Given the description of an element on the screen output the (x, y) to click on. 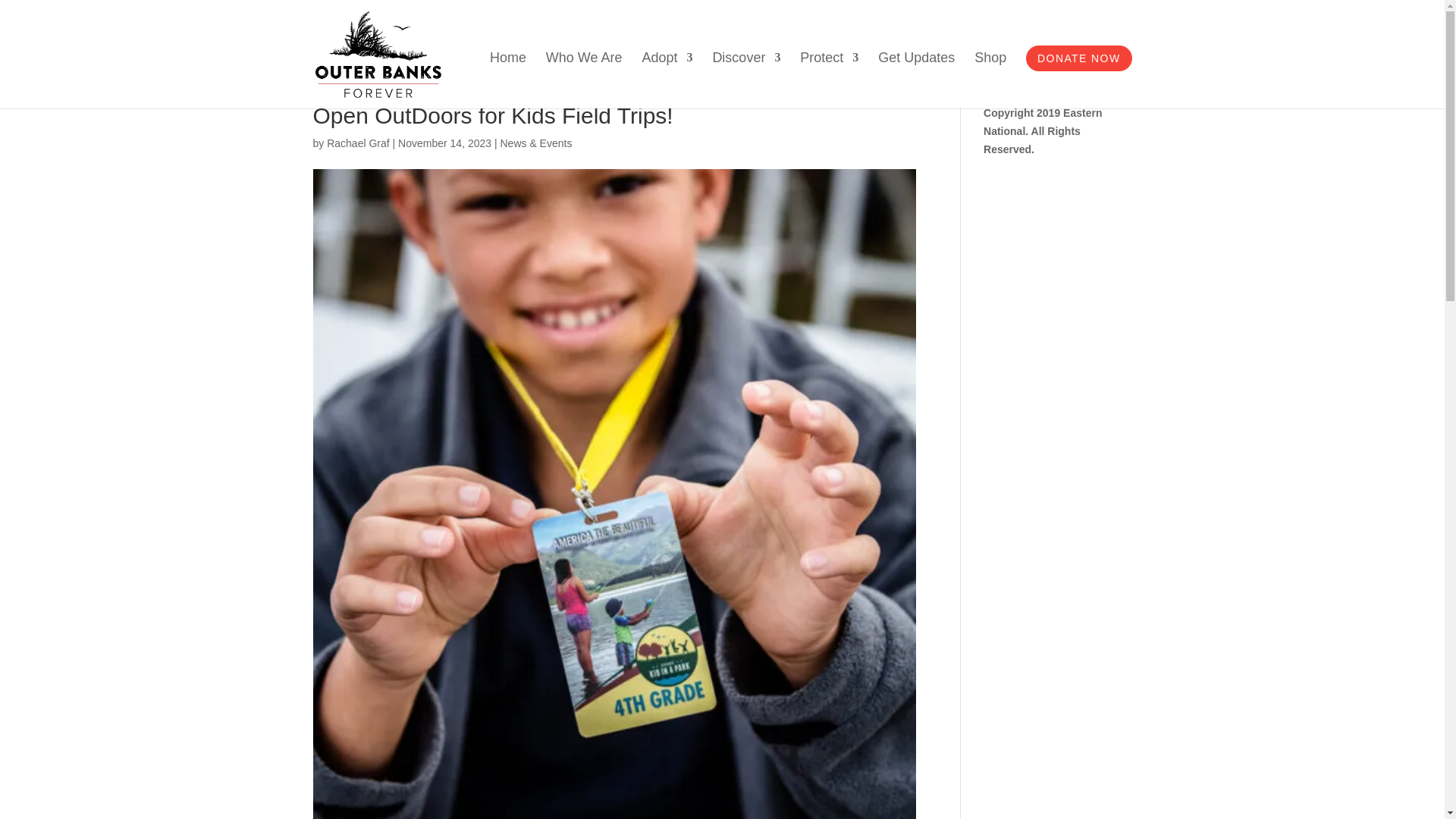
DONATE NOW (1078, 58)
Who We Are (584, 80)
Discover (745, 80)
Get Updates (916, 80)
Posts by Rachael Graf (357, 143)
Protect (829, 80)
Adopt (667, 80)
Rachael Graf (357, 143)
